Given the description of an element on the screen output the (x, y) to click on. 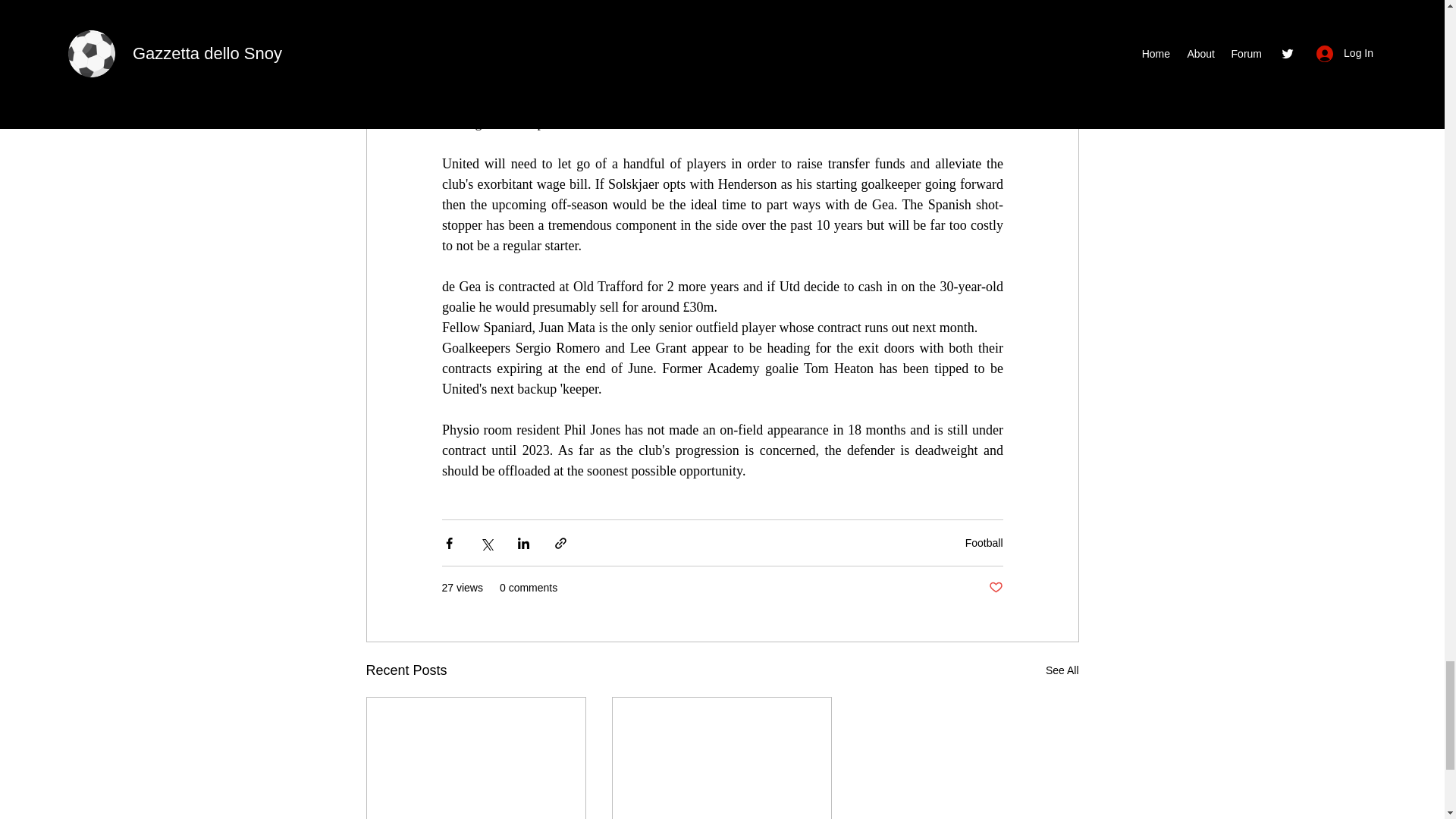
Football (984, 542)
Post not marked as liked (995, 587)
See All (1061, 670)
